Given the description of an element on the screen output the (x, y) to click on. 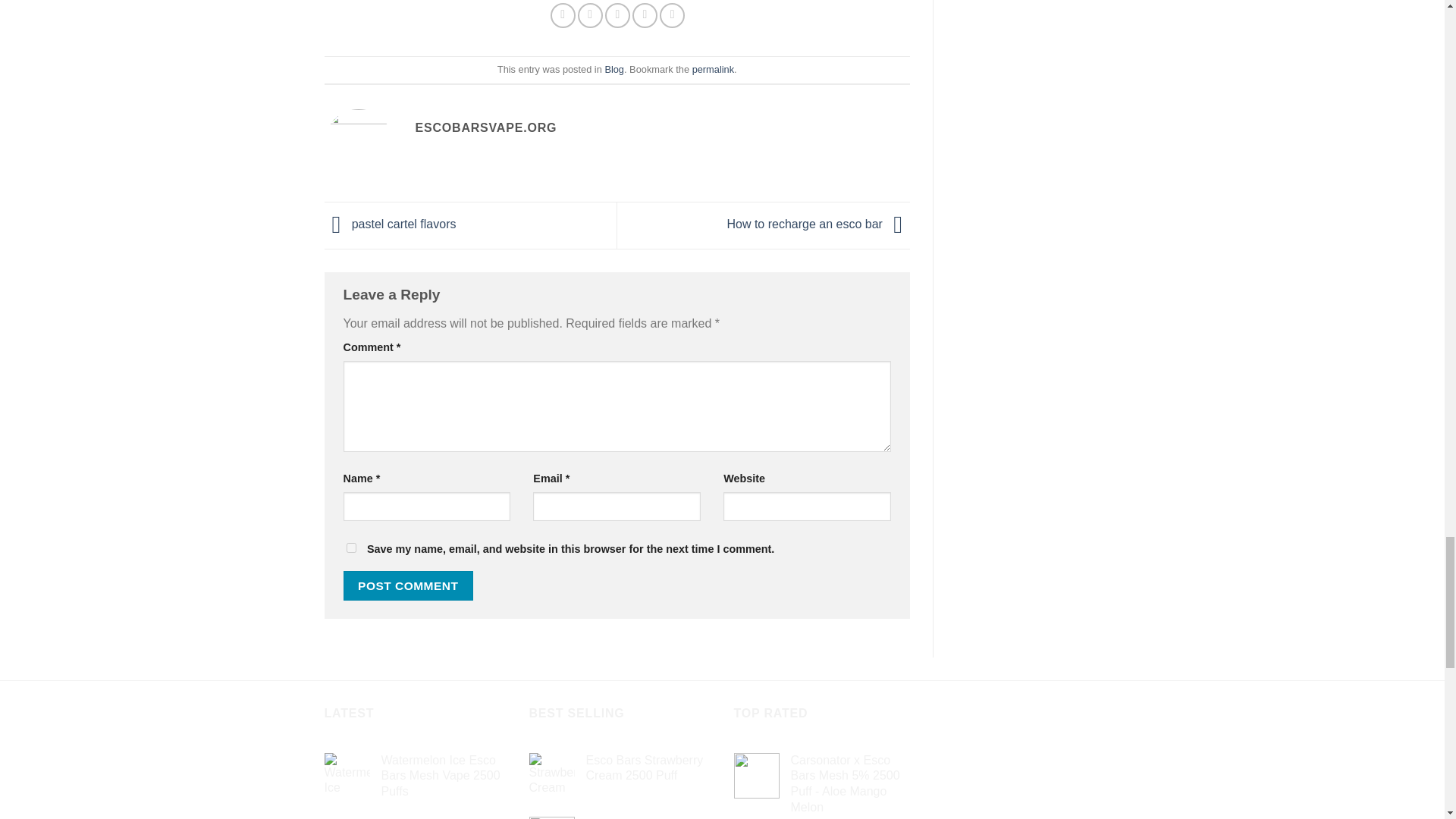
Permalink to pastel cartel vape (713, 69)
Email to a Friend (617, 15)
Post Comment (407, 585)
yes (350, 547)
Share on Facebook (562, 15)
Post Comment (407, 585)
Blog (614, 69)
pastel cartel flavors (390, 223)
Share on LinkedIn (671, 15)
Pin on Pinterest (644, 15)
